Given the description of an element on the screen output the (x, y) to click on. 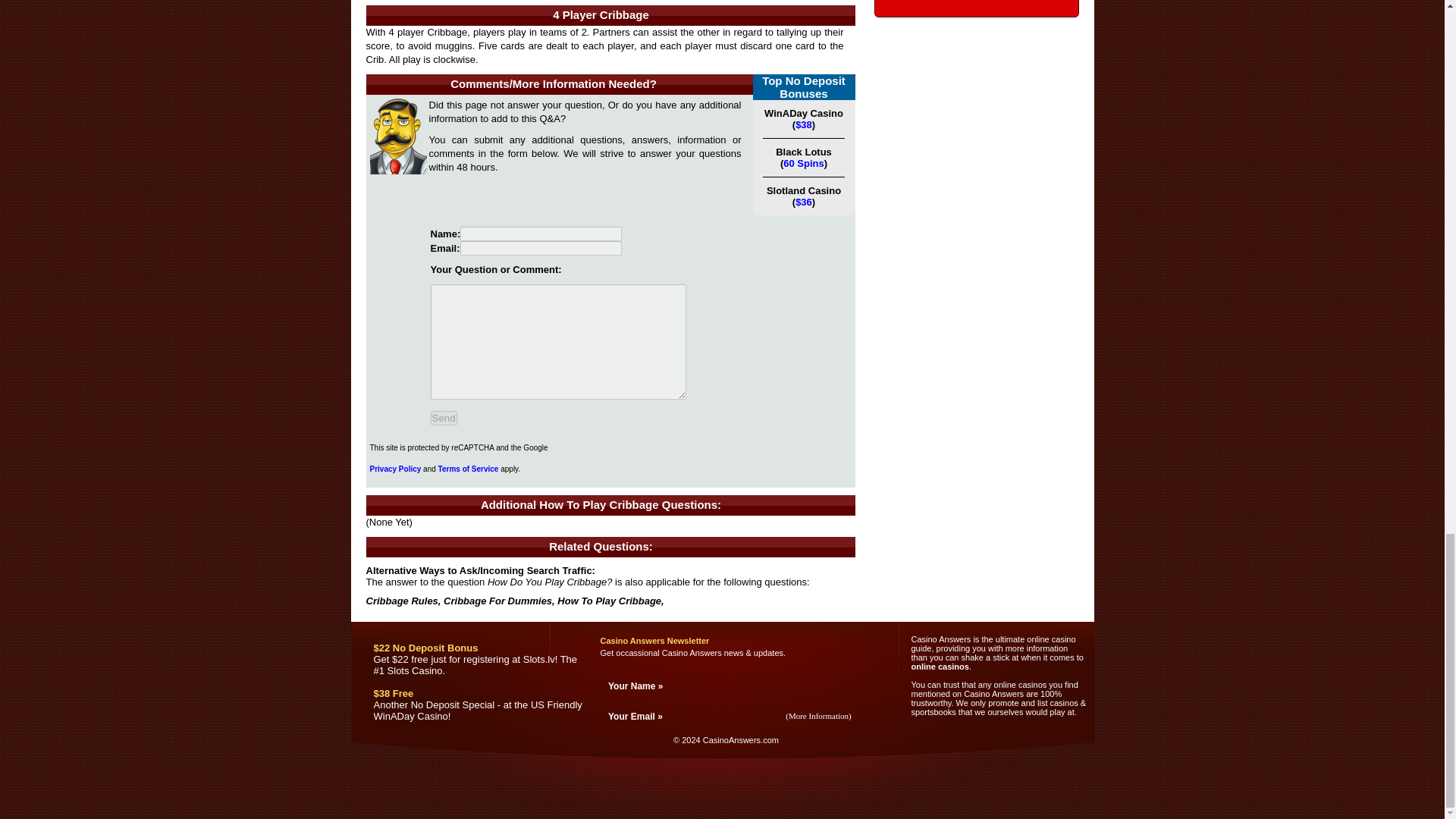
Send (443, 418)
